Given the description of an element on the screen output the (x, y) to click on. 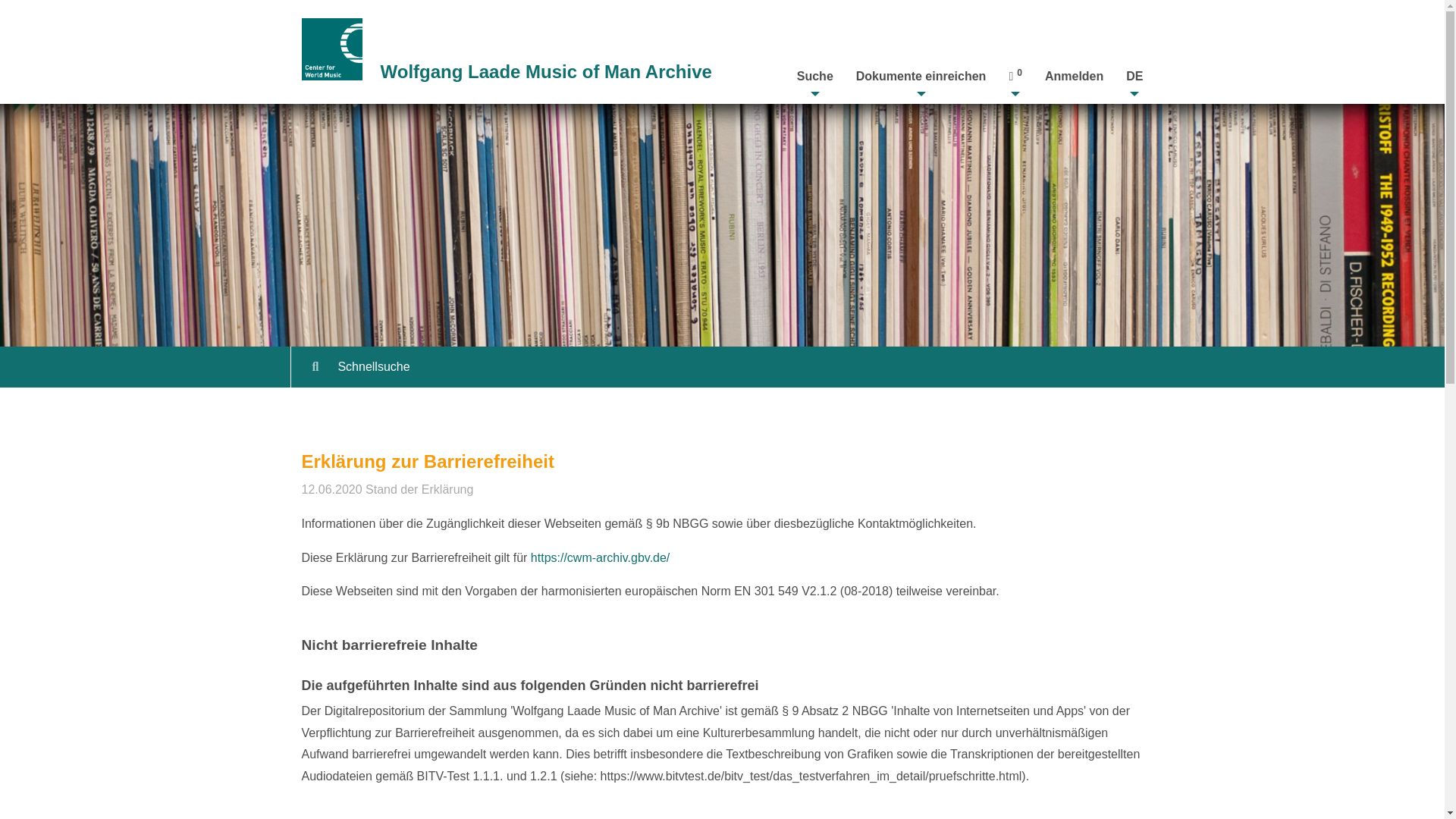
DE (1134, 76)
Auf ihrer Merkliste befinden sich keine Dokumente. (1015, 76)
Wolfgang Laade Music of Man Archive (545, 75)
Suche (815, 76)
Dokumente einreichen (920, 76)
0 (1015, 76)
Anmelden (1074, 76)
Sprache wechseln (1134, 76)
